Given the description of an element on the screen output the (x, y) to click on. 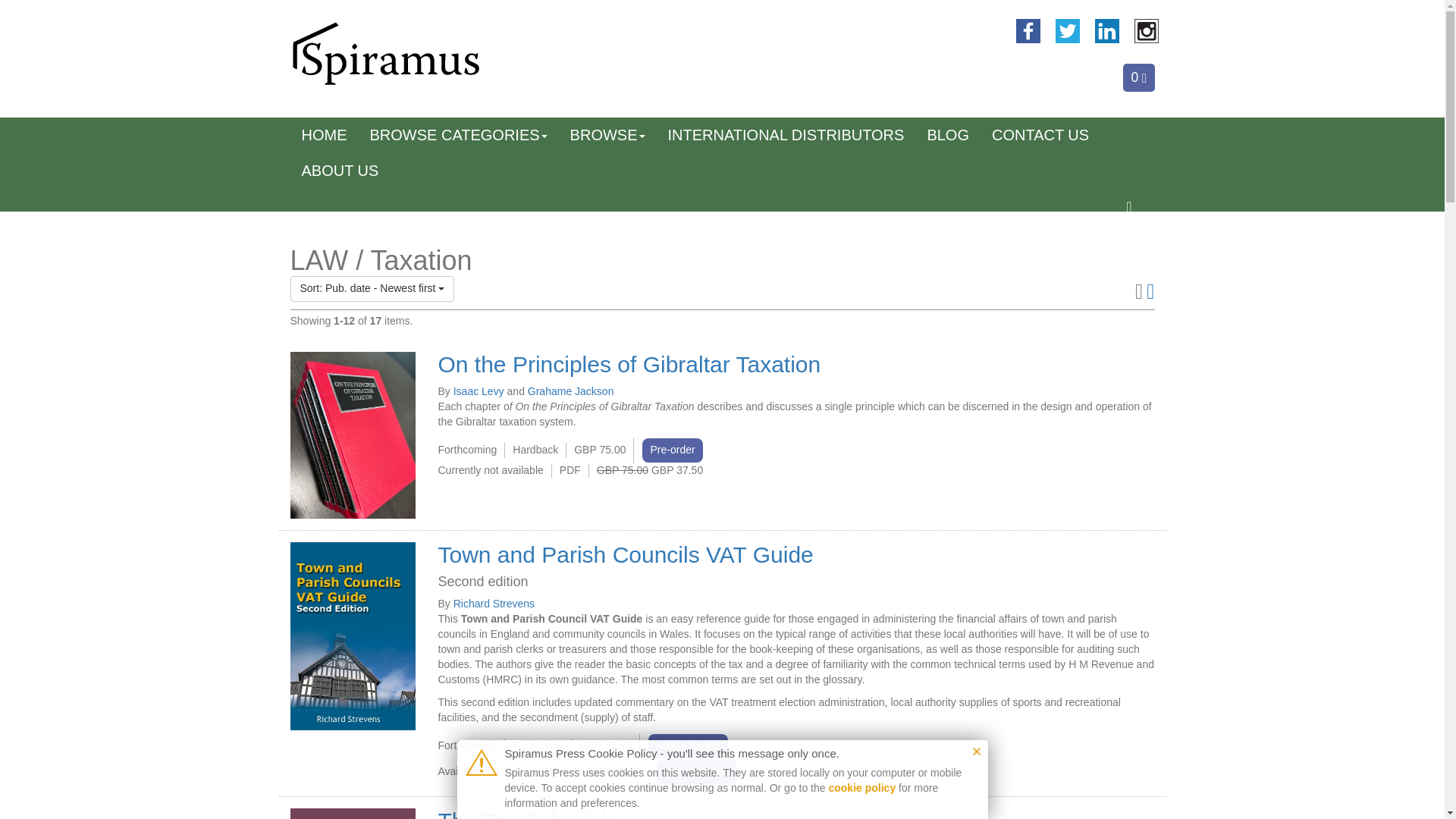
Instagram page (1146, 30)
CONTACT US (1039, 135)
Twitter page (1067, 30)
ABOUT US (339, 171)
Facebook page (1028, 30)
View books as list (1138, 290)
BROWSE (607, 135)
BROWSE CATEGORIES (457, 135)
HOME (323, 135)
View books as grid (1150, 290)
Sort: Pub. date - Newest first (371, 289)
BLOG (947, 135)
LinkedIn page (1106, 30)
Close (975, 751)
INTERNATIONAL DISTRIBUTORS (785, 135)
